Given the description of an element on the screen output the (x, y) to click on. 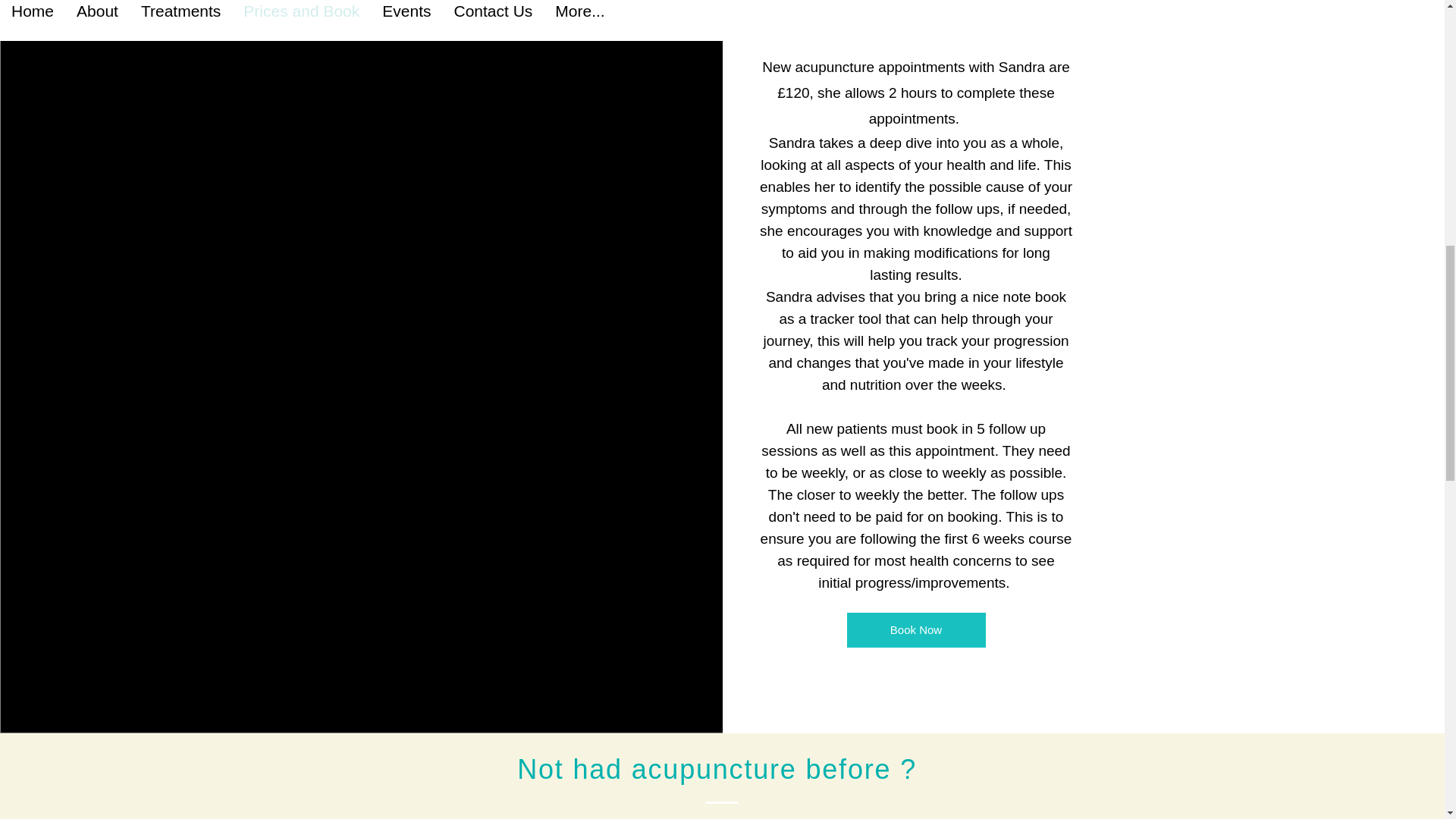
Book Now (915, 629)
